Given the description of an element on the screen output the (x, y) to click on. 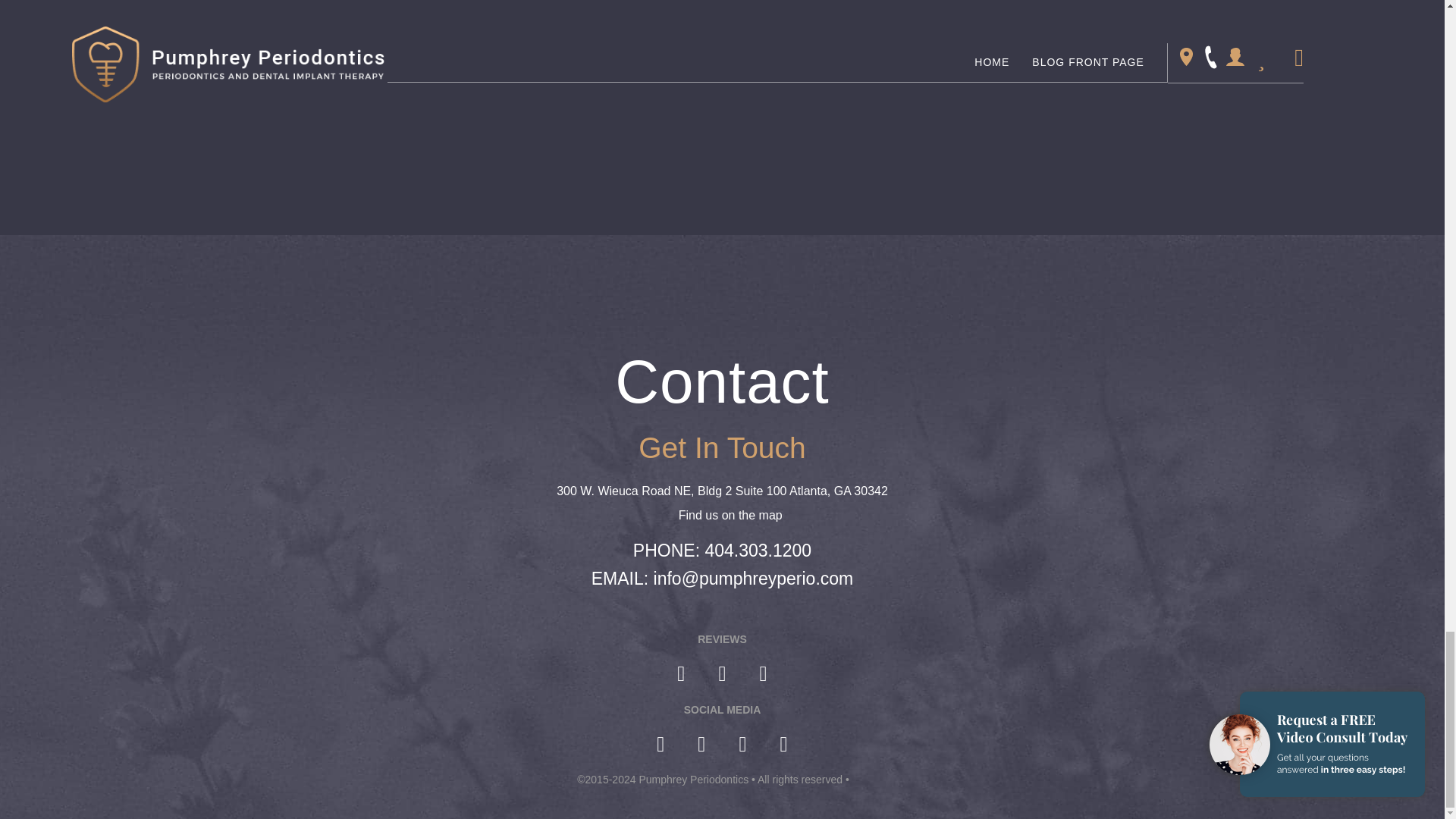
Pumhprey Perio (722, 298)
